Given the description of an element on the screen output the (x, y) to click on. 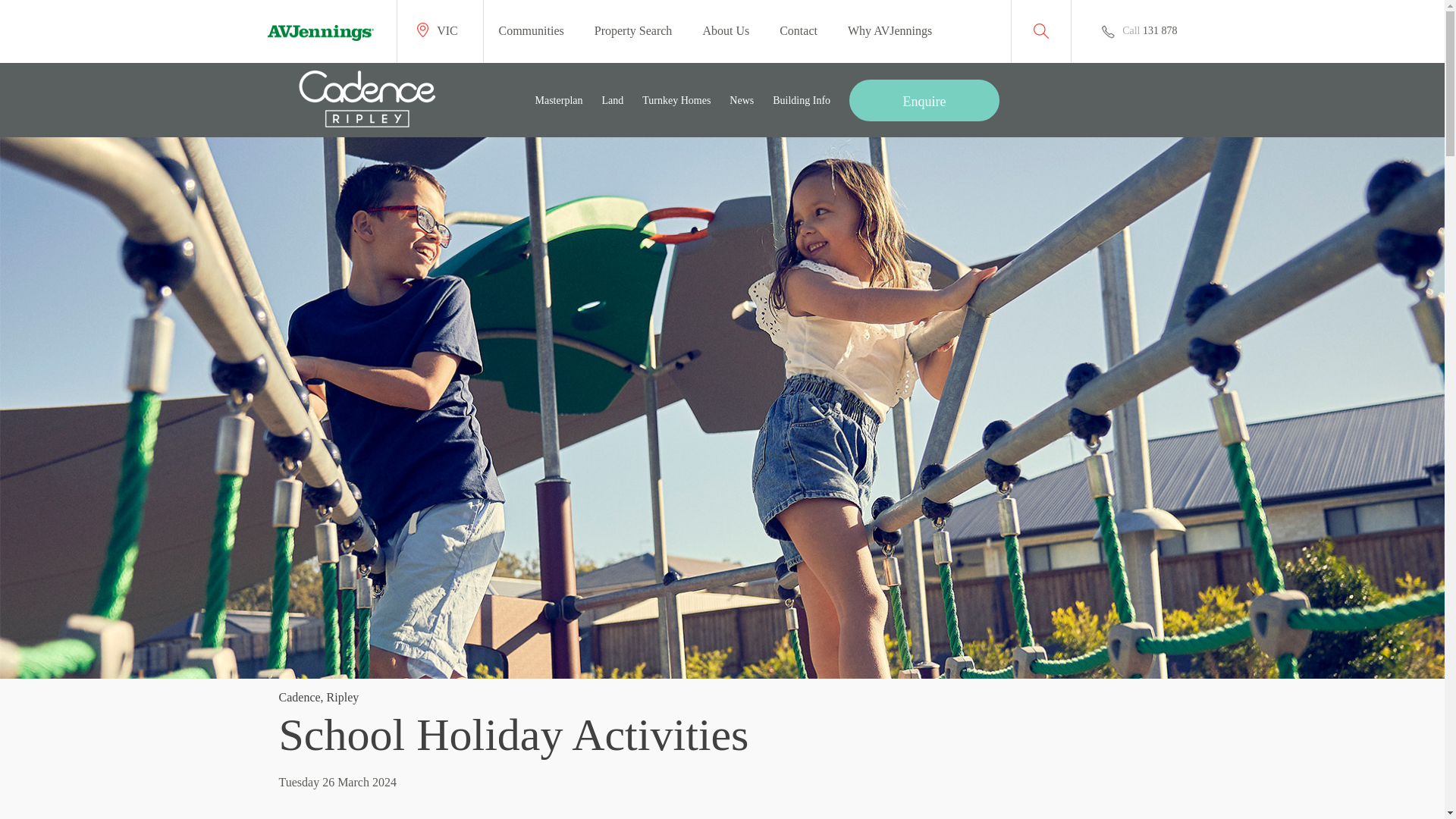
Property Search (633, 31)
news-and-events (741, 104)
About Us (725, 31)
Masterplan (559, 104)
masterplan (559, 104)
building-information (801, 104)
Call 131 878 (1137, 31)
PropertySearch (633, 31)
VIC (440, 31)
PropertySearch (1040, 31)
